Given the description of an element on the screen output the (x, y) to click on. 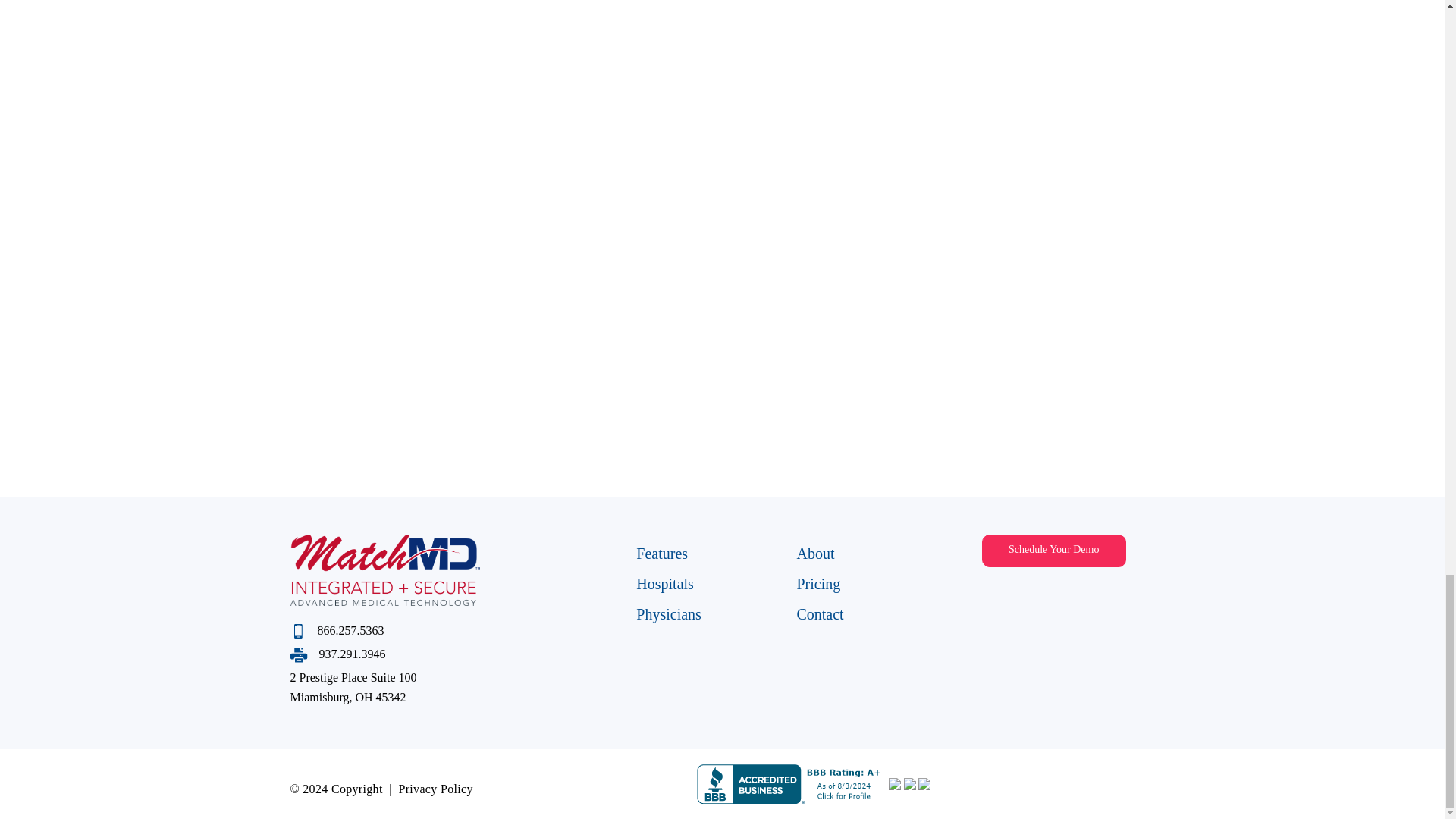
Contact (819, 614)
Request a Demo (1053, 550)
Facebook (1009, 593)
About (815, 553)
Physicians (668, 614)
Privacy Policy (352, 686)
YouTube (434, 788)
LinkedIn (1118, 593)
Hospitals (1082, 593)
Features (665, 583)
Twitter (661, 553)
937.291.3946 (1045, 593)
Pricing (351, 653)
Schedule Your Demo (818, 583)
